Given the description of an element on the screen output the (x, y) to click on. 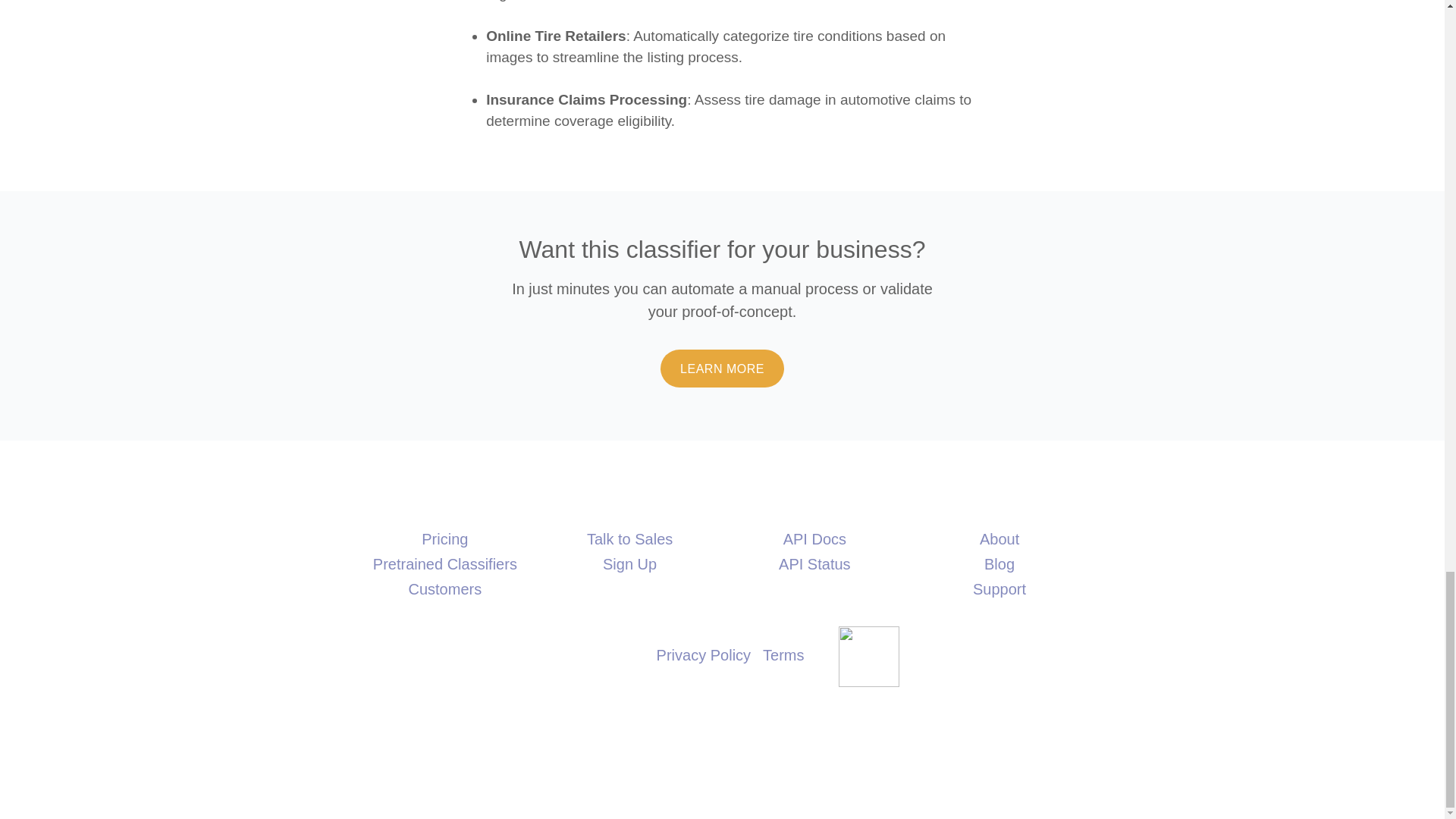
Pricing (444, 538)
Customers (444, 588)
Pretrained Classifiers (444, 564)
LEARN MORE (722, 368)
